Given the description of an element on the screen output the (x, y) to click on. 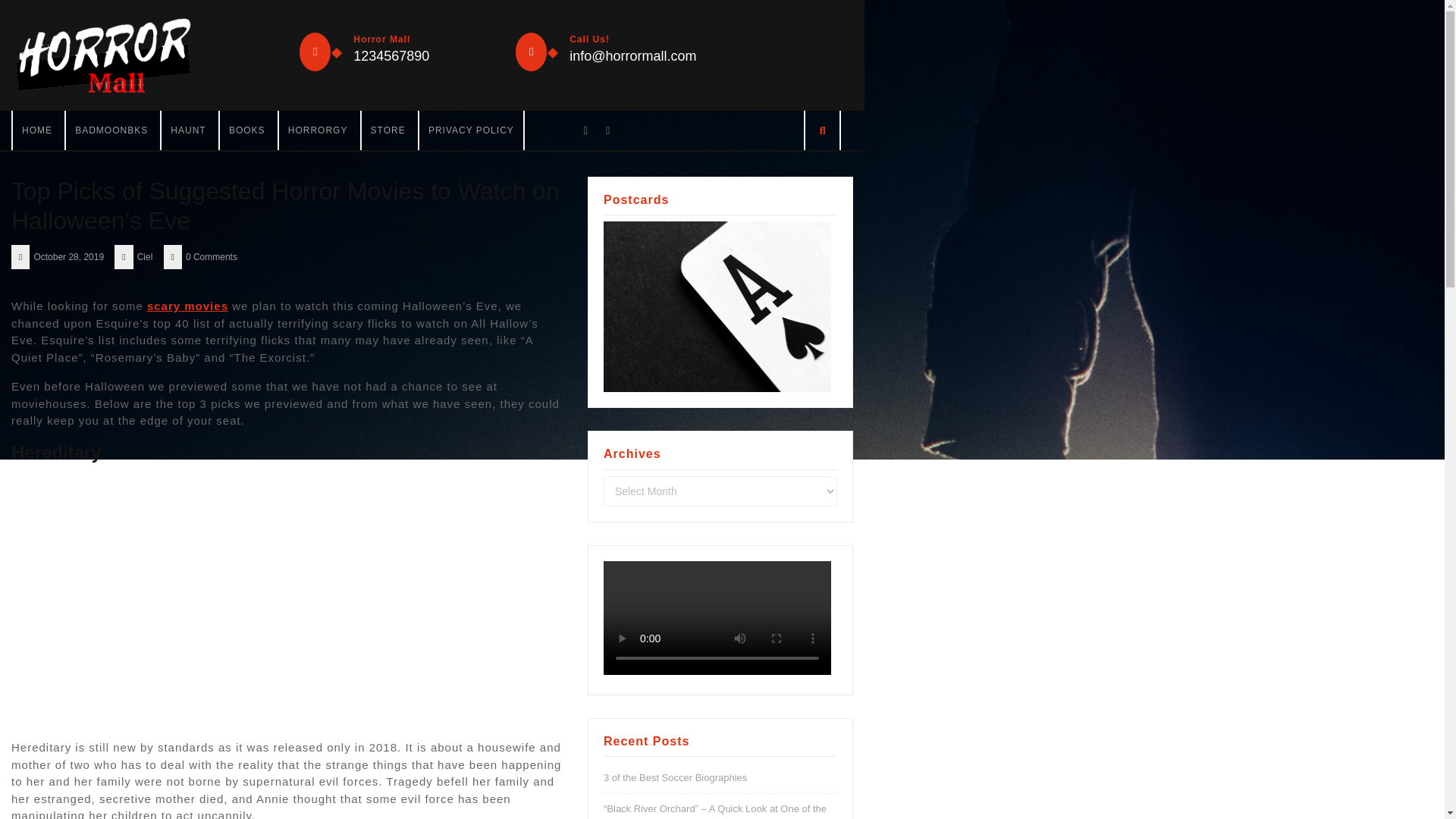
BOOKS (246, 130)
HAUNT (187, 130)
BADMOONBKS (111, 130)
scary movies (187, 305)
HORRORGY (317, 130)
HOME (36, 130)
STORE (388, 130)
PRIVACY POLICY (470, 130)
